Given the description of an element on the screen output the (x, y) to click on. 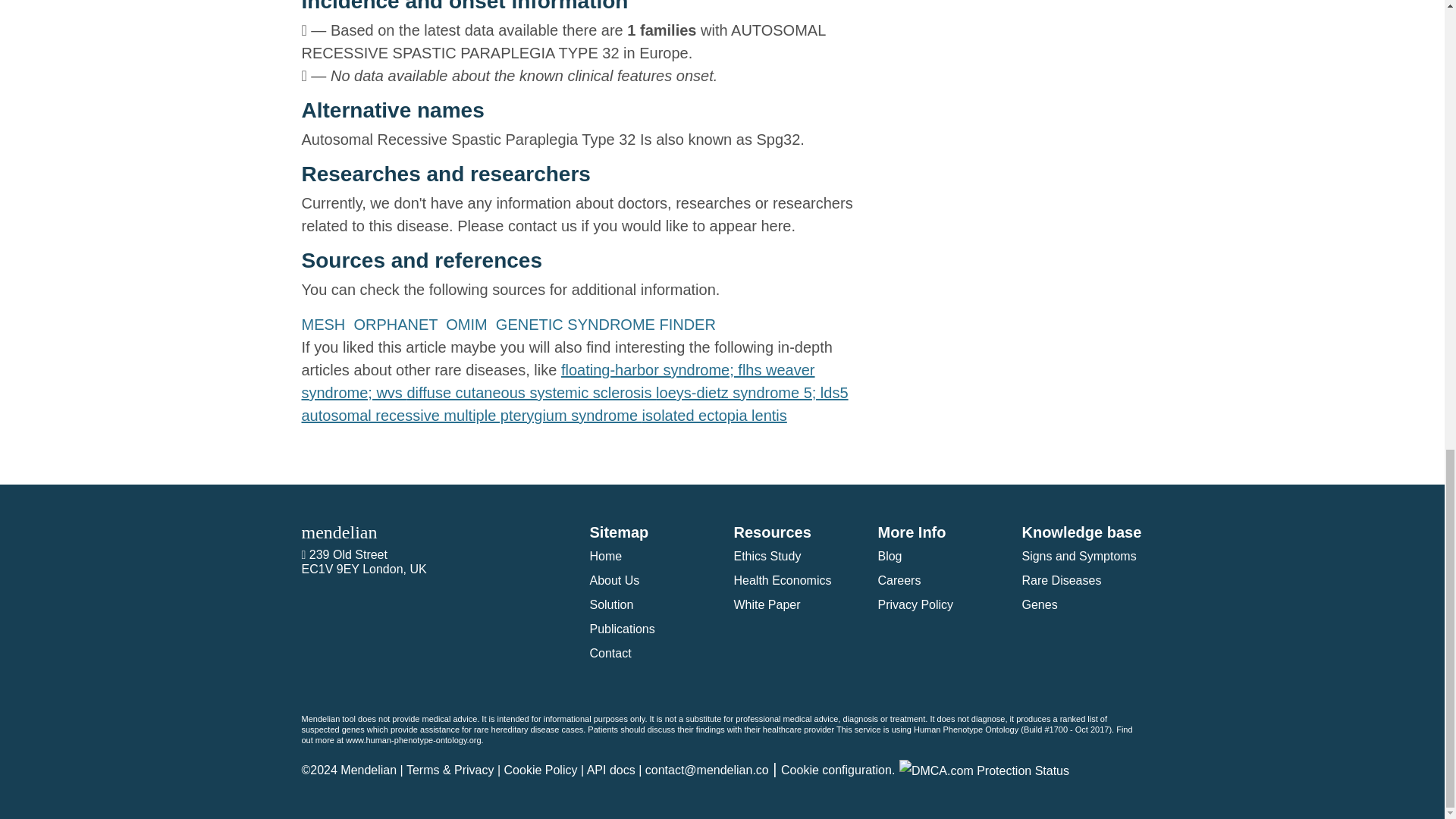
weaver syndrome; wvs (558, 381)
autosomal recessive multiple pterygium syndrome (471, 415)
ORPHANET (397, 324)
Health Economics (782, 580)
diffuse cutaneous systemic sclerosis (531, 392)
Contact (609, 653)
Publications (621, 628)
Solution (611, 604)
Ethics Study (766, 555)
loeys-dietz syndrome 5; lds5 (751, 392)
floating-harbor syndrome; flhs (662, 369)
DMCA.com Protection Status (983, 769)
White Paper (766, 604)
MESH (325, 324)
GENETIC SYNDROME FINDER (608, 324)
